Given the description of an element on the screen output the (x, y) to click on. 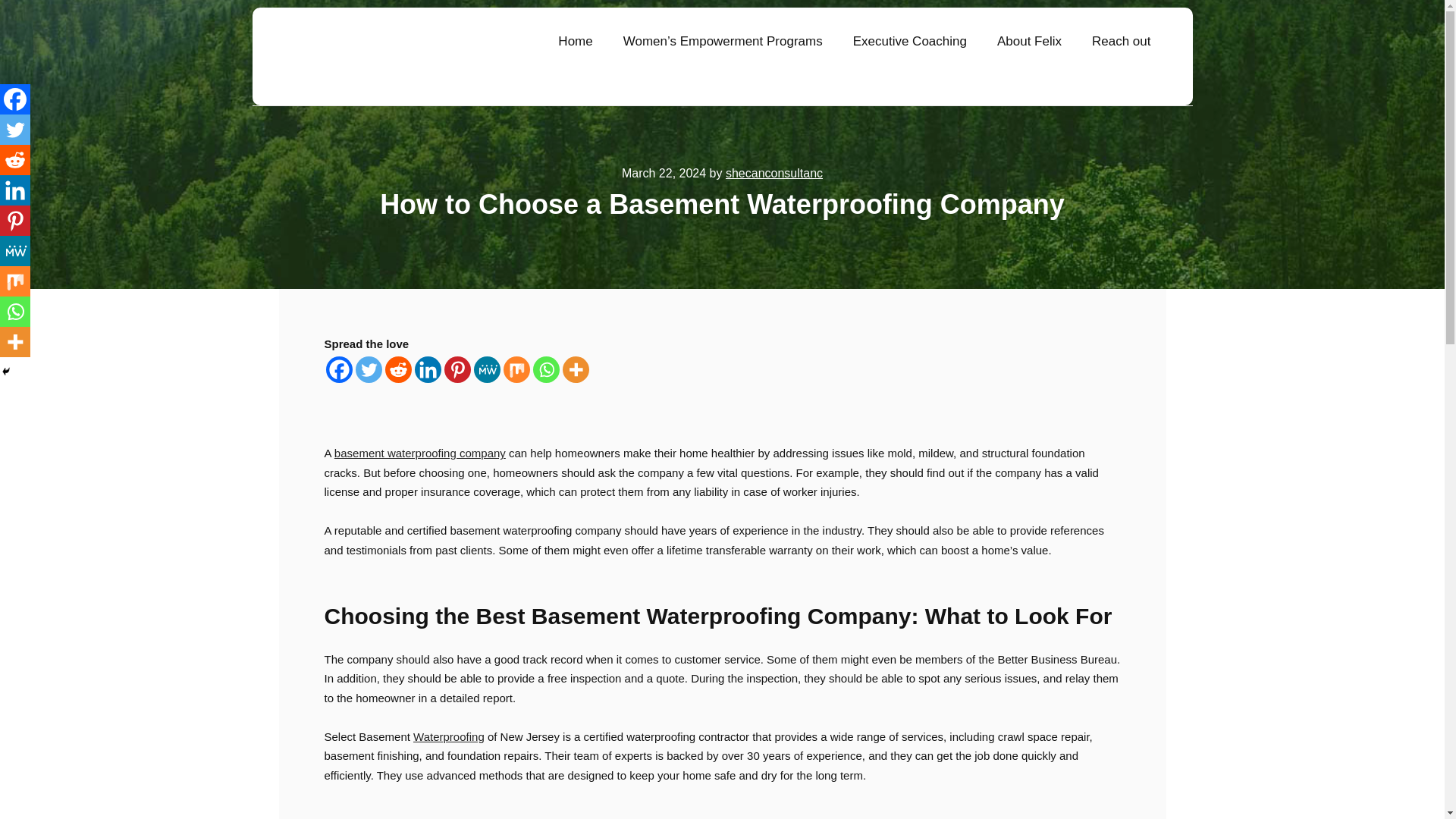
Executive Coaching (909, 41)
About Felix (1029, 41)
Reach out (1121, 41)
Home (575, 41)
She Can Consultancy (351, 56)
